Given the description of an element on the screen output the (x, y) to click on. 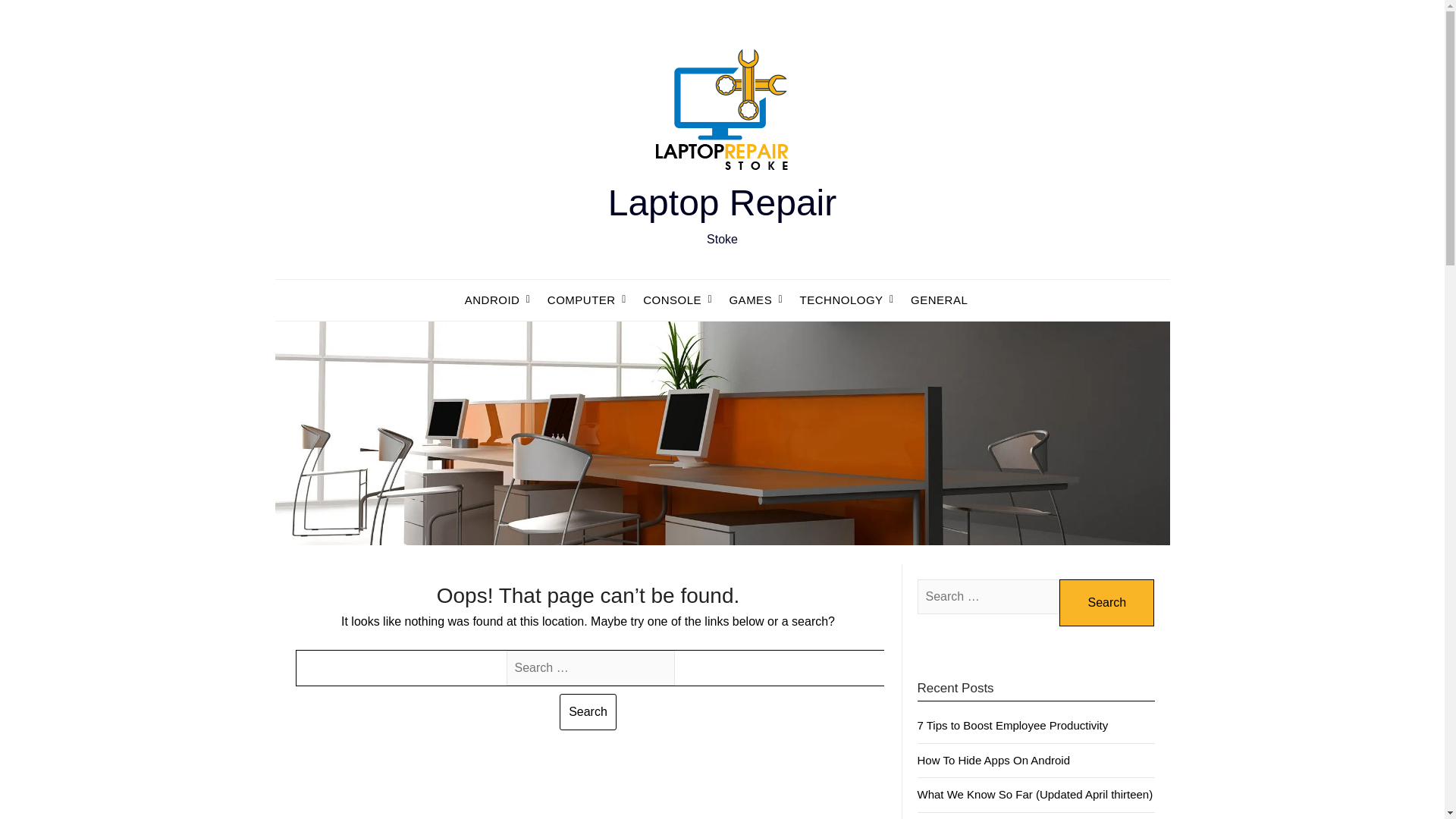
Laptop Repair (722, 202)
TECHNOLOGY (841, 300)
Search (1106, 602)
Search (587, 711)
CONSOLE (671, 300)
Search (587, 711)
Search (1106, 602)
ANDROID (498, 300)
COMPUTER (581, 300)
GAMES (750, 300)
